Given the description of an element on the screen output the (x, y) to click on. 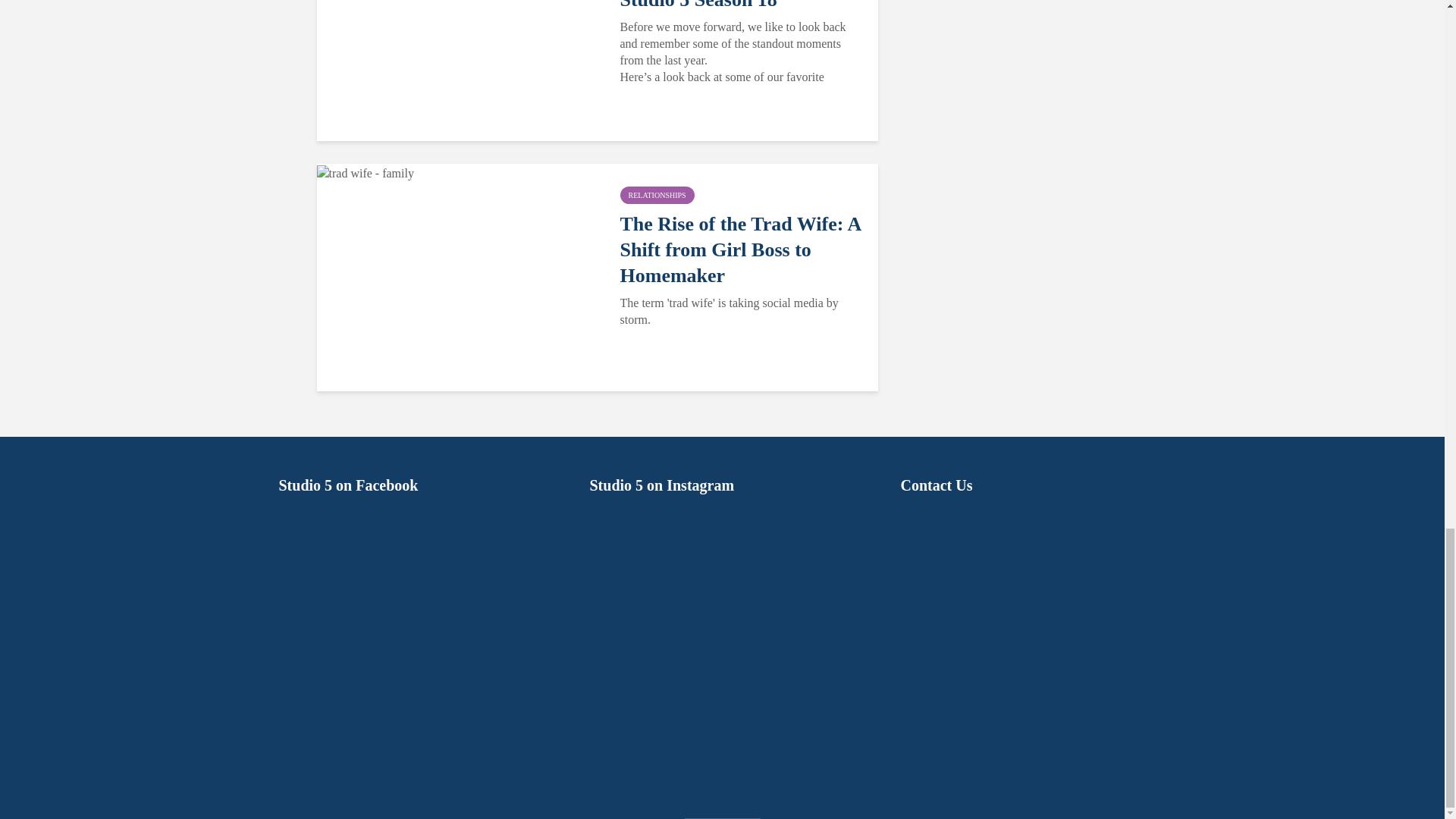
Our Favorite Moments of Studio 5 Season 18 (740, 6)
RELATIONSHIPS (657, 194)
